Given the description of an element on the screen output the (x, y) to click on. 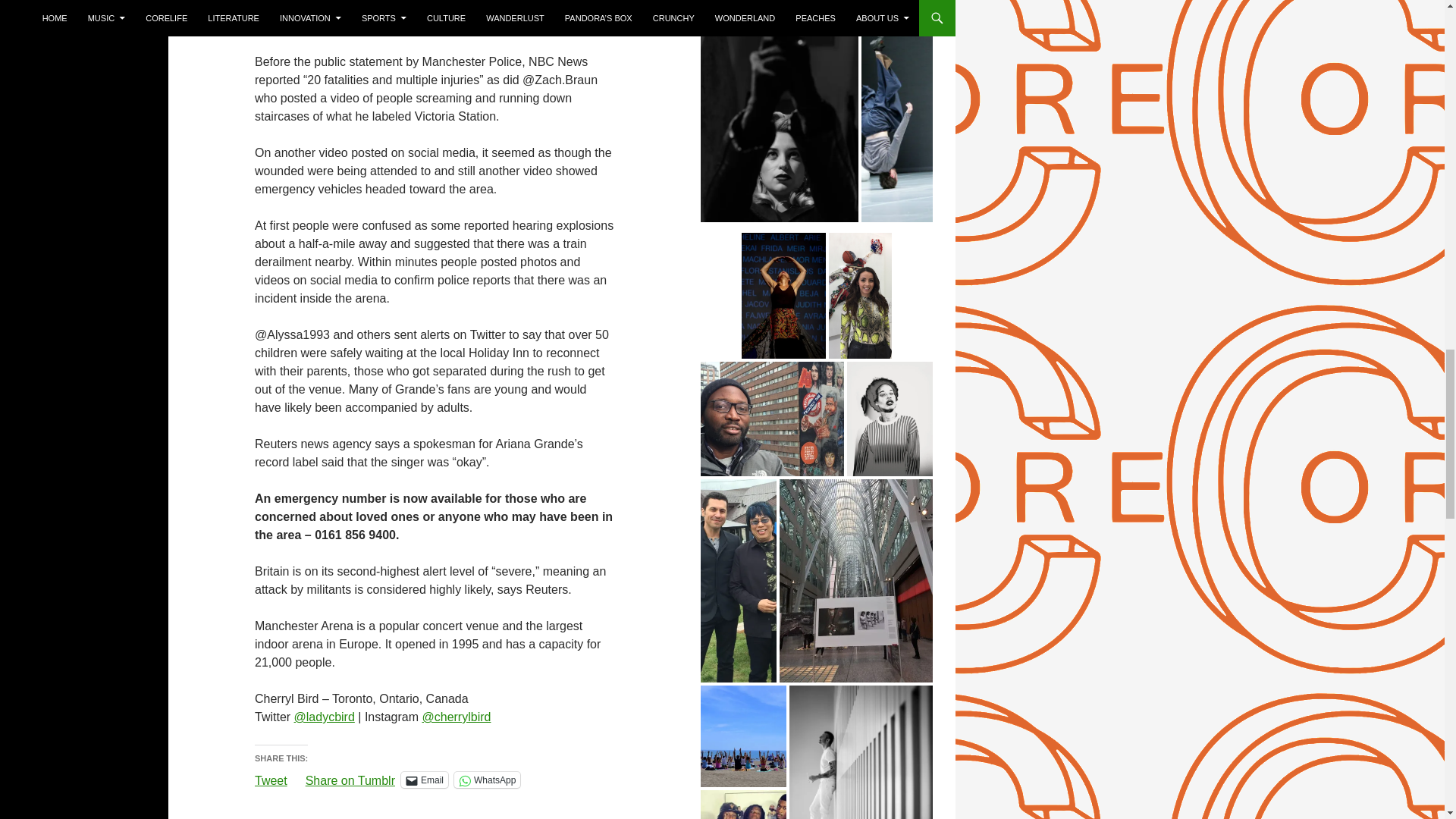
Email (424, 779)
Tweet (270, 778)
Share on Tumblr (349, 778)
Click to share on WhatsApp (486, 779)
Click to email a link to a friend (424, 779)
Share on Tumblr (349, 778)
WhatsApp (486, 779)
